Given the description of an element on the screen output the (x, y) to click on. 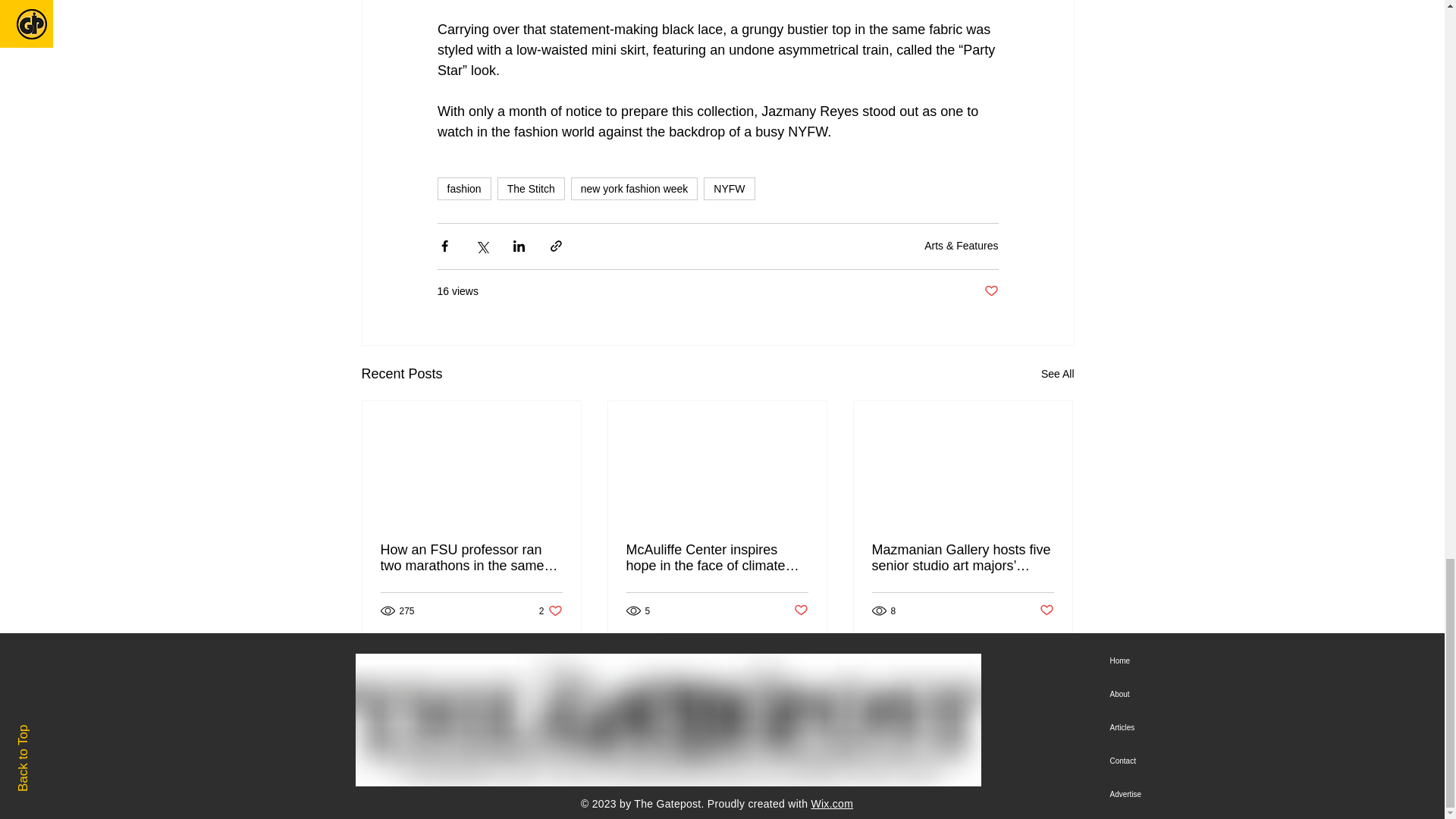
Post not marked as liked (1045, 610)
The Stitch (530, 188)
new york fashion week (634, 188)
Post not marked as liked (991, 291)
Post not marked as liked (800, 610)
NYFW (728, 188)
See All (1057, 373)
How an FSU professor ran two marathons in the same week (471, 558)
fashion (550, 610)
McAuliffe Center inspires hope in the face of climate change (463, 188)
